Given the description of an element on the screen output the (x, y) to click on. 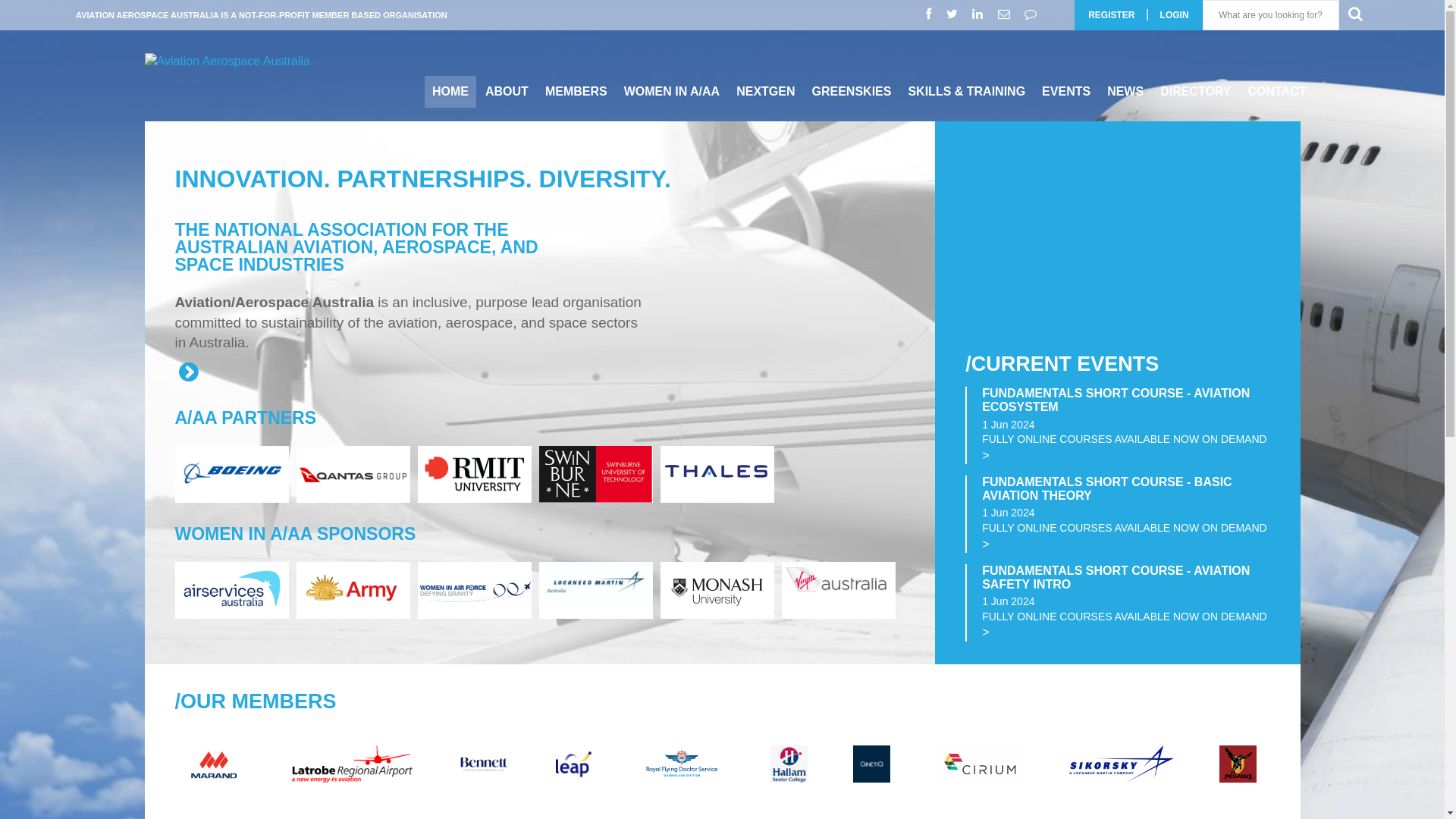
NEWS Element type: text (1125, 91)
Airservices Element type: hover (231, 610)
Australian Army Element type: hover (352, 614)
FULLY ONLINE COURSES AVAILABLE NOW ON DEMAND
> Element type: text (1125, 448)
Contact Us Element type: hover (1032, 13)
Subscribe to our newsletter Element type: hover (1005, 13)
What are you looking for? Element type: text (1270, 15)
GREENSKIES Element type: text (851, 91)
Sikorsky Australia Element type: hover (1227, 799)
Virgin Australia Element type: hover (837, 594)
Facebook Element type: hover (930, 13)
Boeing Australia Element type: hover (231, 492)
Swinburne University Element type: hover (594, 498)
FULLY ONLINE COURSES AVAILABLE NOW ON DEMAND
> Element type: text (1125, 536)
Qantas Group Element type: hover (352, 498)
LEAP Australia Element type: hover (685, 799)
RMIT University Element type: hover (473, 495)
EVENTS Element type: text (1066, 91)
Royal Australian Air Force Element type: hover (473, 614)
La Trobe Regional Airport Element type: hover (465, 799)
SKILLS & TRAINING Element type: text (966, 91)
Thales Australia  Element type: hover (716, 491)
Twitter Element type: hover (953, 13)
DIRECTORY Element type: text (1195, 91)
Aviation Aerospace Australia Element type: hover (227, 61)
Lockheed Martin Australia & NZ Element type: hover (595, 599)
Royal Flying Doctors Service QLD Section Element type: hover (792, 799)
LOGIN Element type: text (1174, 14)
MEMBERS Element type: text (576, 91)
Marand Element type: hover (327, 799)
WOMEN IN A/AA Element type: text (672, 91)
LinkedIn Element type: hover (979, 13)
NEXTGEN Element type: text (765, 91)
HOME Element type: text (450, 91)
Hallam Senior College Element type: hover (897, 799)
CONTACT Element type: text (1276, 91)
REGISTER Element type: text (1111, 14)
FULLY ONLINE COURSES AVAILABLE NOW ON DEMAND
> Element type: text (1125, 625)
CIRIUM Element type: hover (1086, 799)
ABOUT Element type: text (506, 91)
QinetiQ Element type: hover (979, 799)
